Given the description of an element on the screen output the (x, y) to click on. 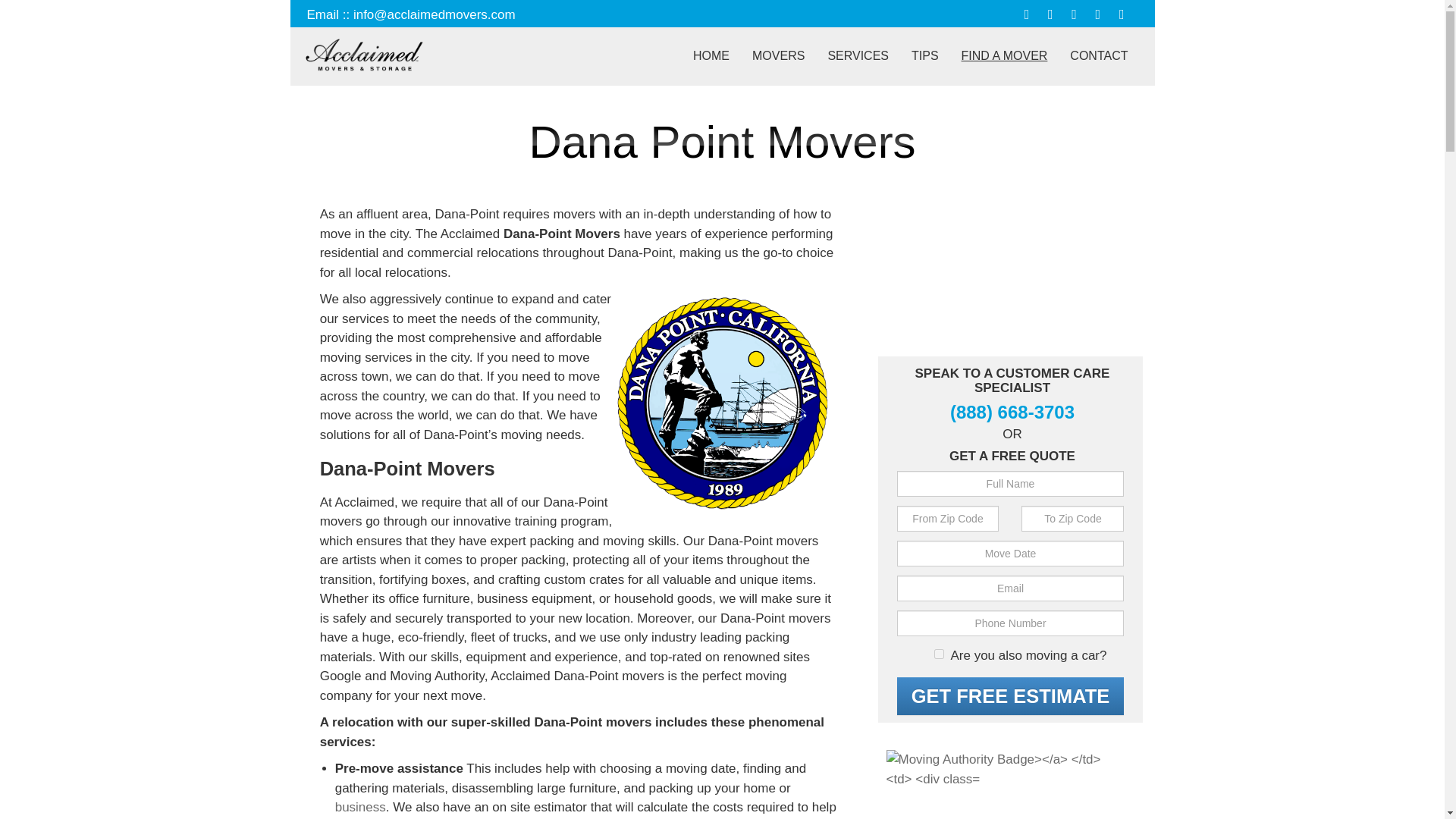
HOME (711, 55)
MOVERS (778, 55)
on (938, 654)
SERVICES (857, 55)
Get Free Estimate (1010, 695)
